Given the description of an element on the screen output the (x, y) to click on. 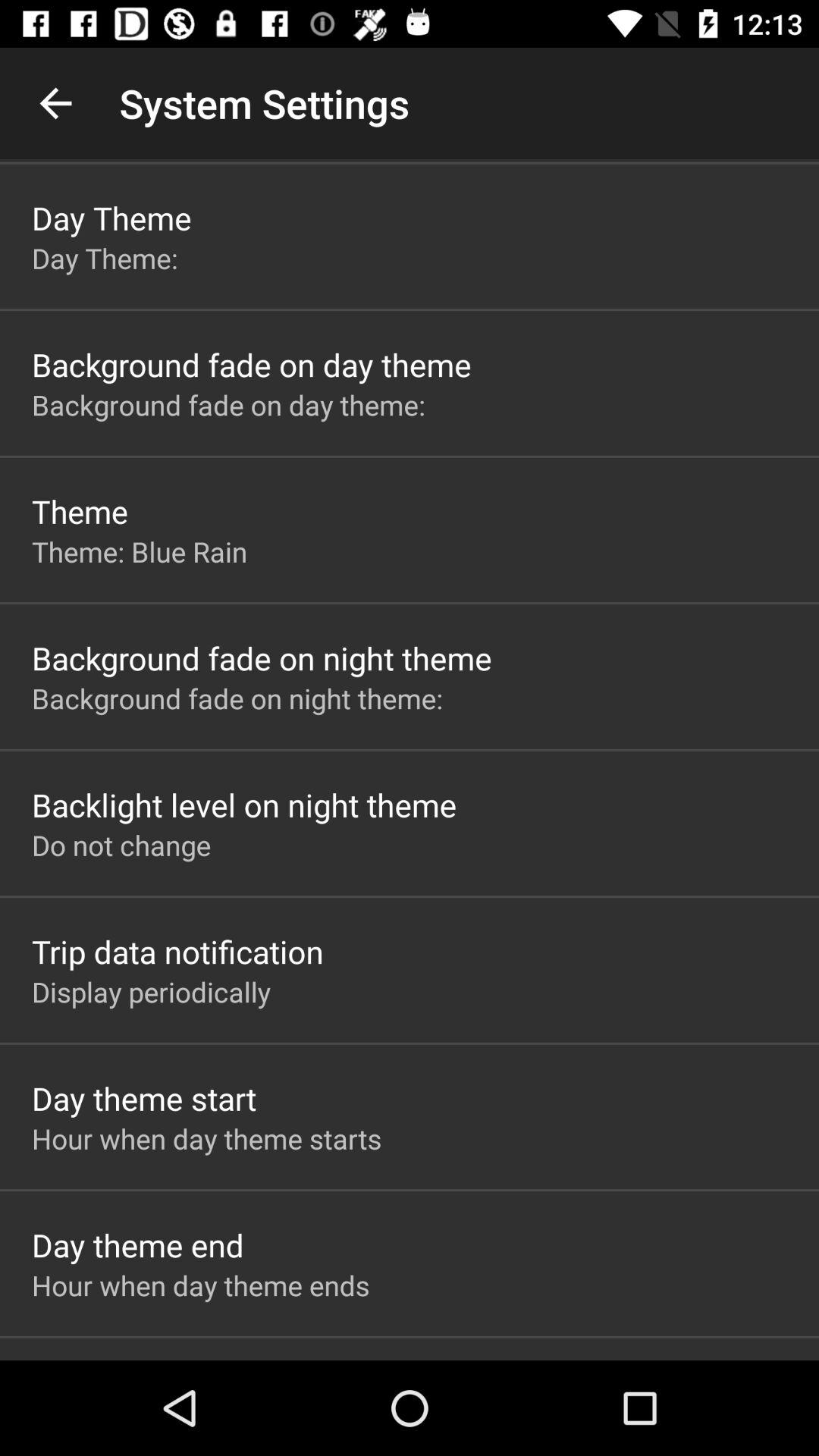
open the do not change app (121, 844)
